Given the description of an element on the screen output the (x, y) to click on. 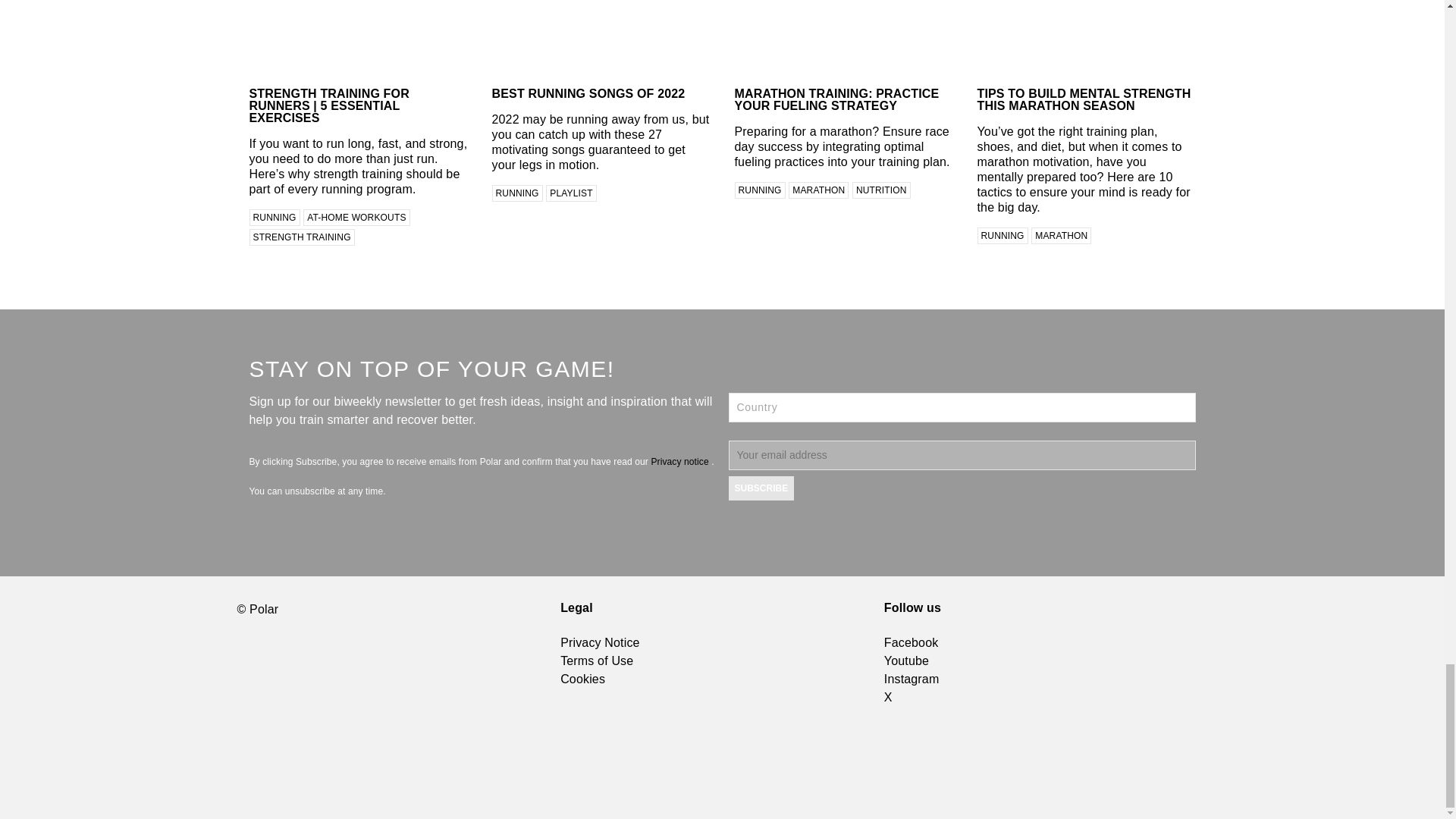
View all posts in category Running (758, 190)
View all posts tagged with At-Home Workouts (355, 217)
View all posts tagged with Strength Training (300, 237)
View all posts tagged with Marathon (1060, 235)
AT-HOME WORKOUTS (355, 217)
PLAYLIST (570, 193)
Subscribe (760, 487)
View all posts in category Running (273, 217)
View all posts tagged with Playlist (570, 193)
View all posts in category Running (516, 193)
